Given the description of an element on the screen output the (x, y) to click on. 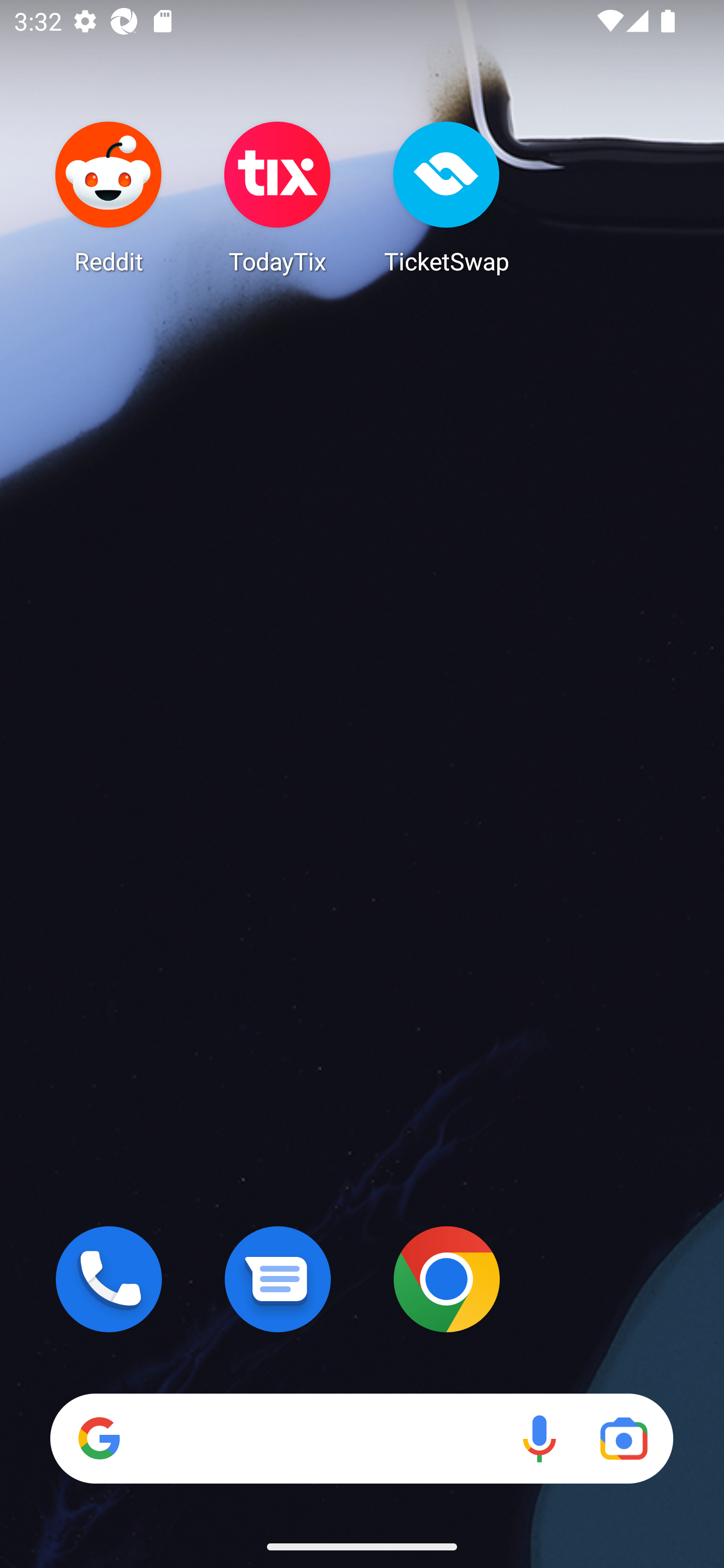
Reddit (108, 196)
TodayTix (277, 196)
TicketSwap (445, 196)
Phone (108, 1279)
Messages (277, 1279)
Chrome (446, 1279)
Voice search (539, 1438)
Google Lens (623, 1438)
